Given the description of an element on the screen output the (x, y) to click on. 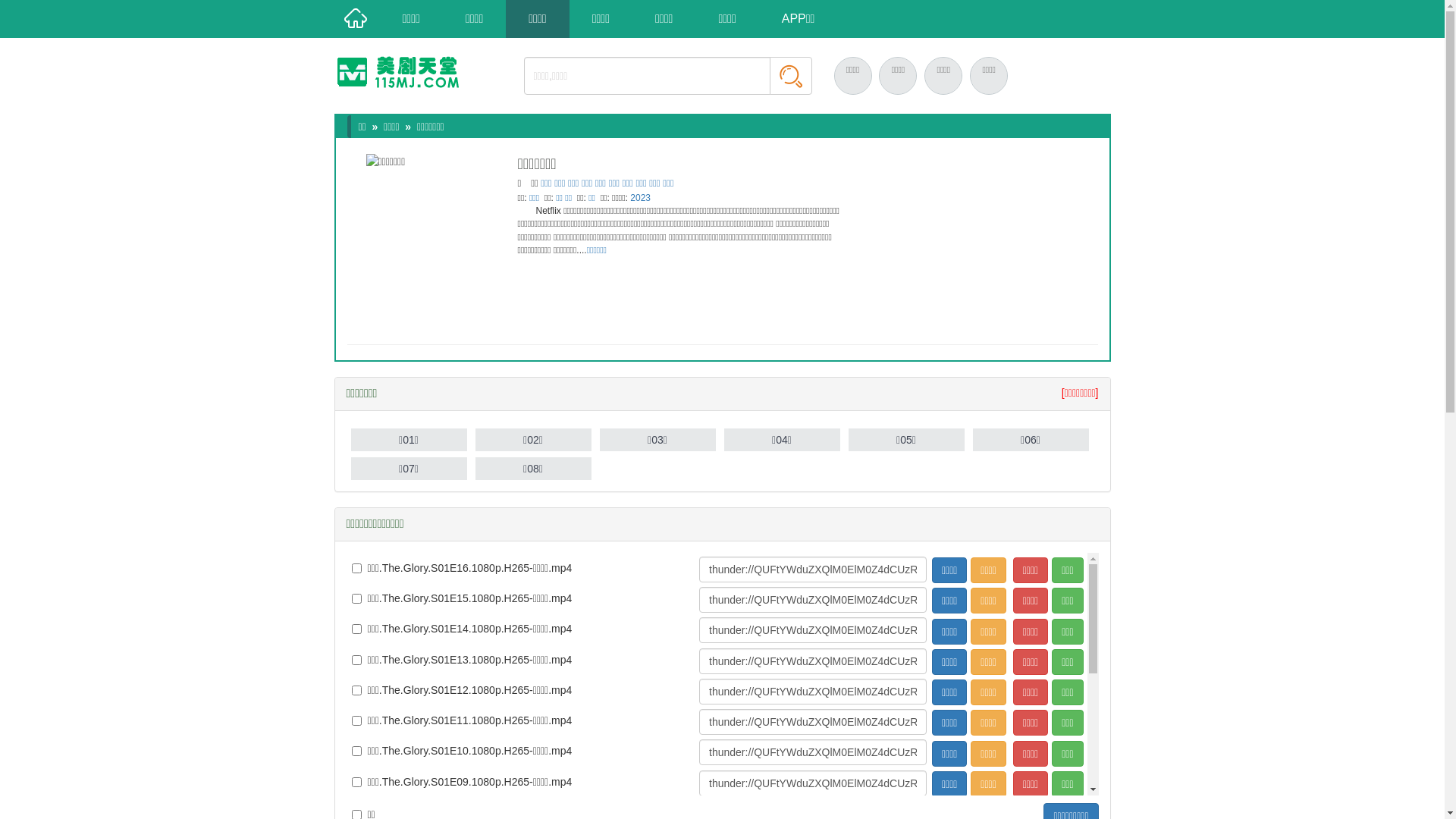
2023 Element type: text (640, 197)
